Given the description of an element on the screen output the (x, y) to click on. 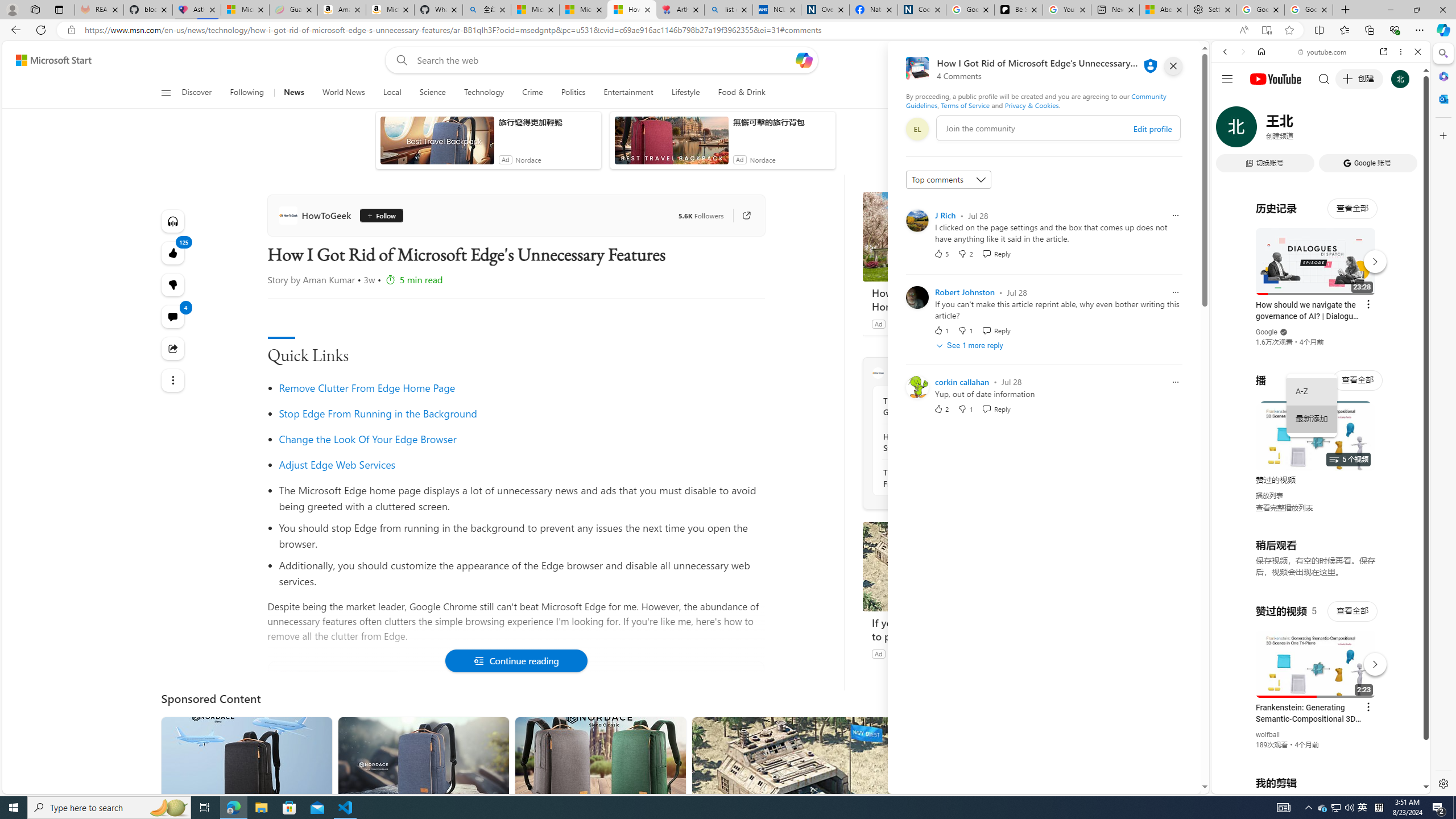
A-Z (1311, 391)
Enter your search term (603, 59)
Click to scroll right (1407, 456)
Share this story (172, 348)
YouTube (1315, 655)
Be Smart | creating Science videos | Patreon (1019, 9)
World News (343, 92)
J Rich (945, 215)
Listen to this article (172, 220)
